Given the description of an element on the screen output the (x, y) to click on. 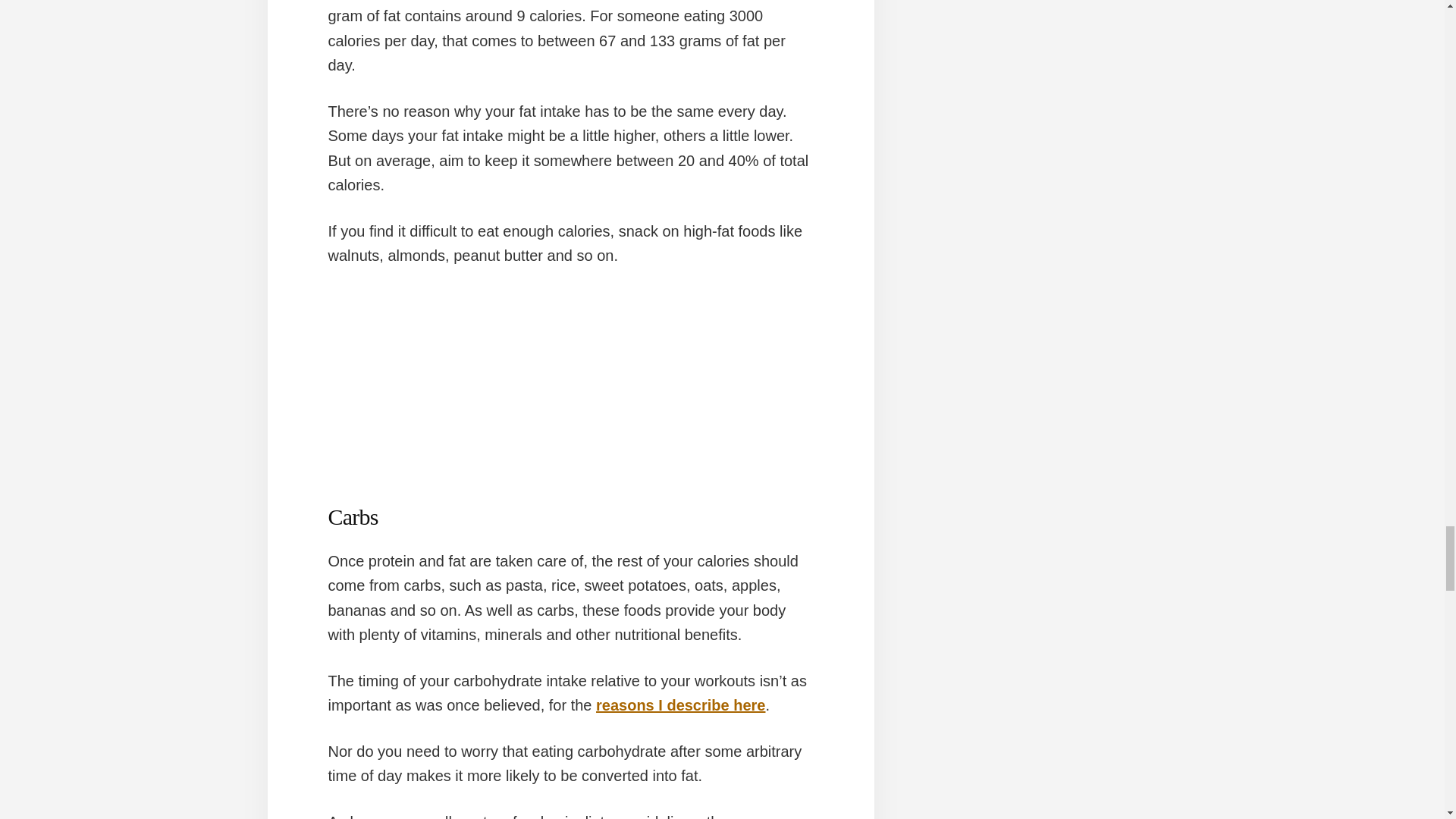
reasons I describe here (680, 704)
